Given the description of an element on the screen output the (x, y) to click on. 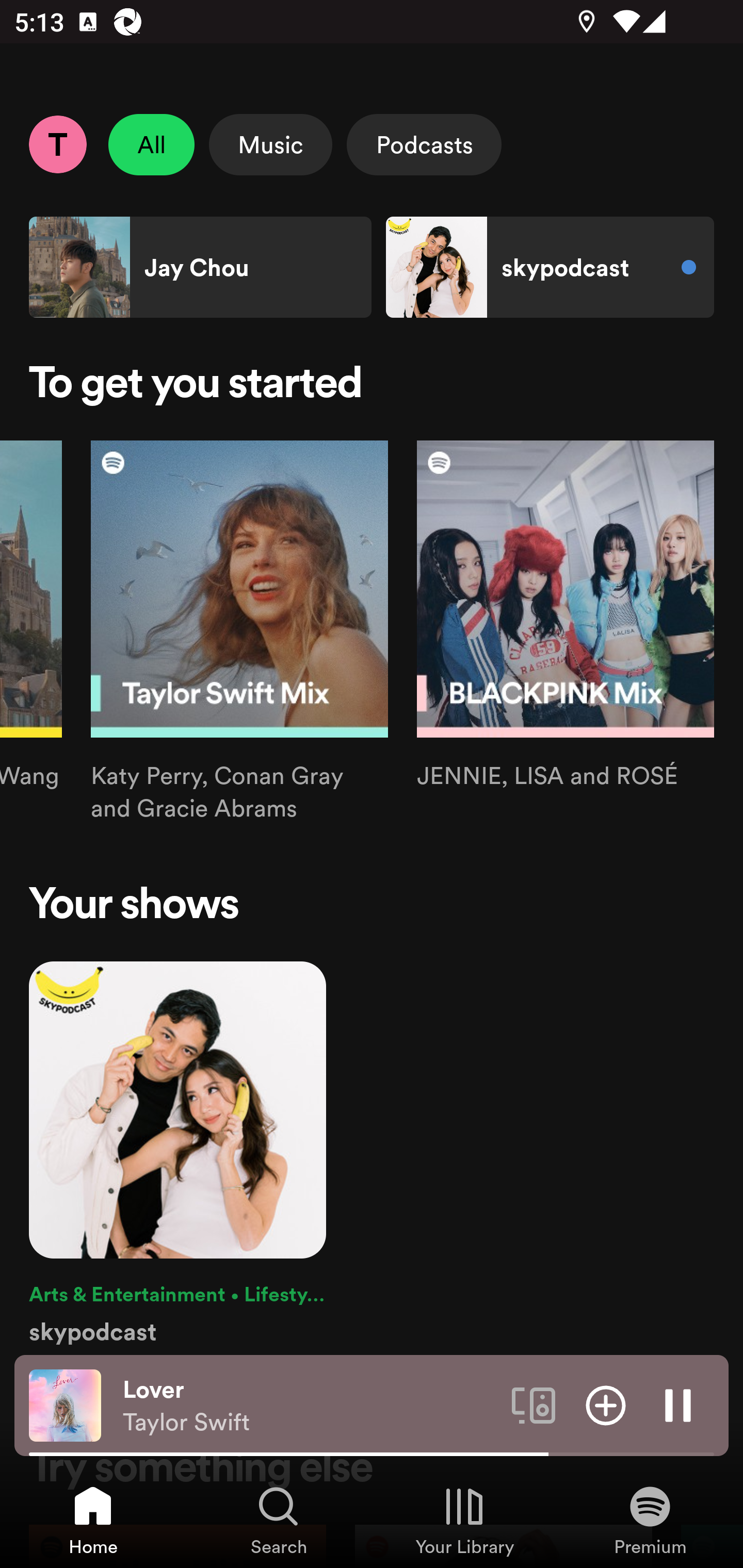
Profile (57, 144)
All Unselect All (151, 144)
Music Select Music (270, 144)
Podcasts Select Podcasts (423, 144)
Jay Chou Shortcut Jay Chou (199, 267)
skypodcast Shortcut skypodcast New content (549, 267)
Lover Taylor Swift (309, 1405)
The cover art of the currently playing track (64, 1404)
Connect to a device. Opens the devices menu (533, 1404)
Add item (605, 1404)
Pause (677, 1404)
Home, Tab 1 of 4 Home Home (92, 1519)
Search, Tab 2 of 4 Search Search (278, 1519)
Your Library, Tab 3 of 4 Your Library Your Library (464, 1519)
Premium, Tab 4 of 4 Premium Premium (650, 1519)
